Given the description of an element on the screen output the (x, y) to click on. 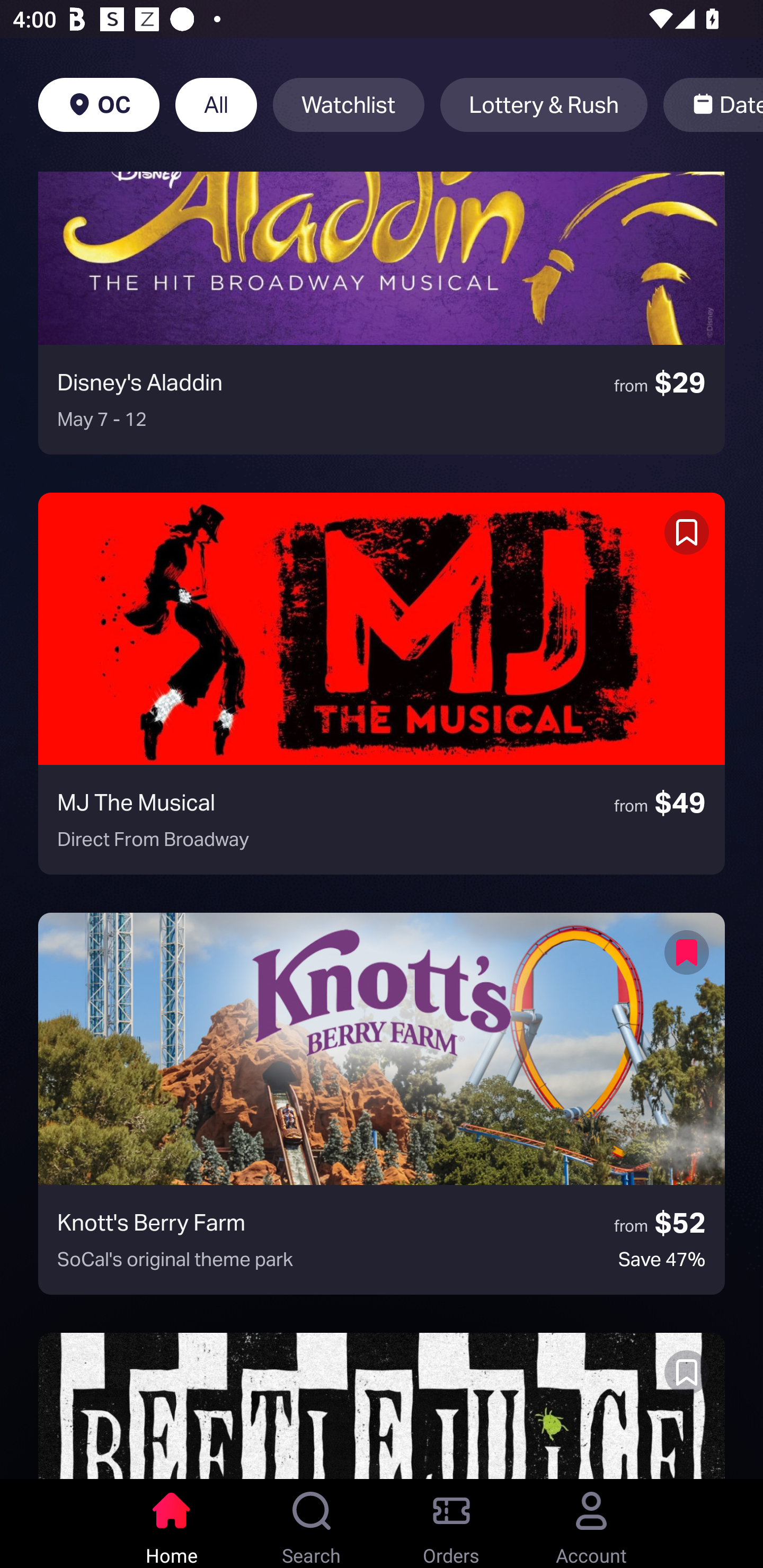
OC (98, 104)
All (216, 104)
Watchlist (348, 104)
Lottery & Rush (543, 104)
Disney's Aladdin from $29 May 7 - 12 (381, 312)
MJ The Musical from $49 Direct From Broadway (381, 683)
Search (311, 1523)
Orders (451, 1523)
Account (591, 1523)
